Given the description of an element on the screen output the (x, y) to click on. 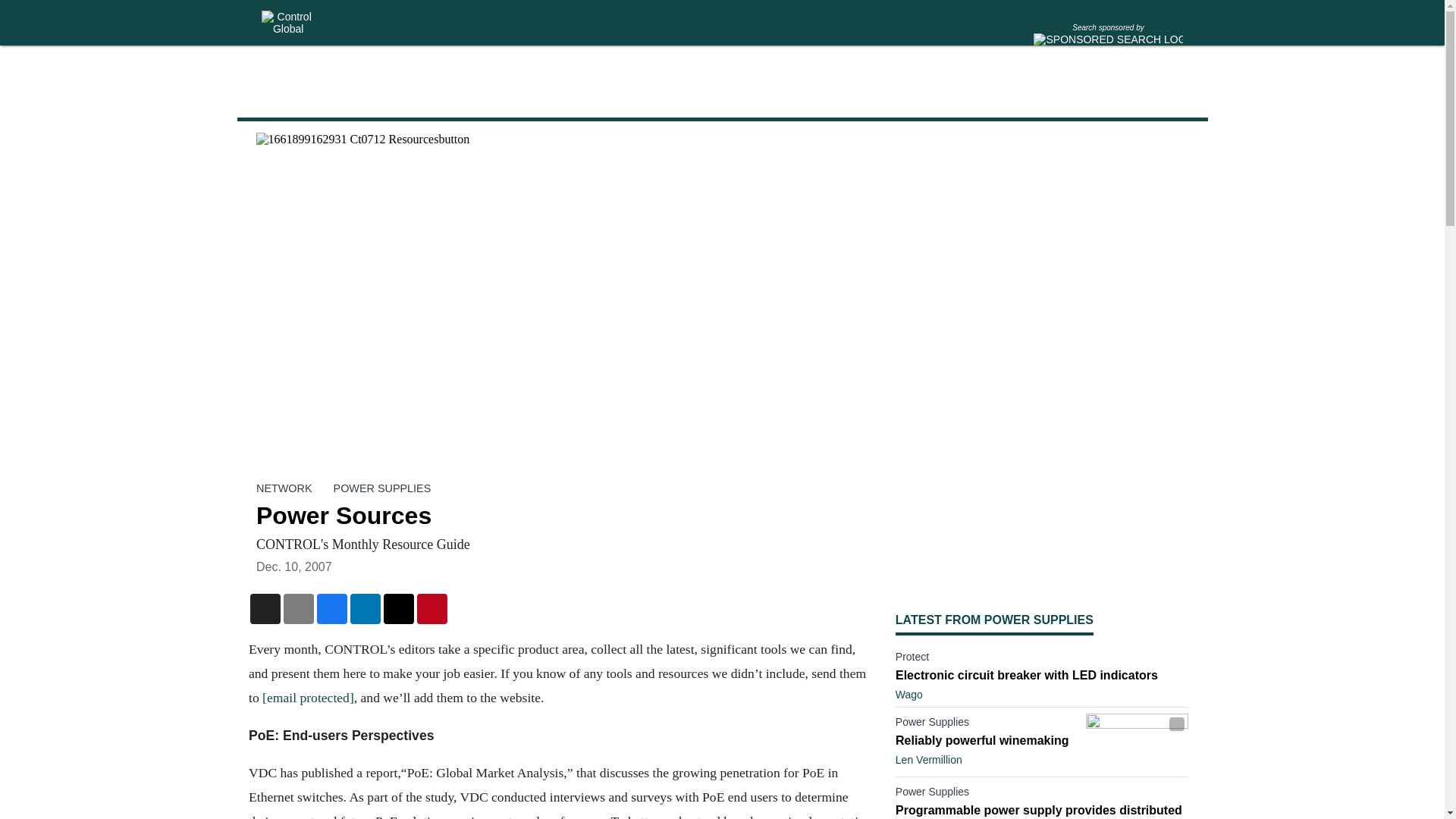
NETWORK (284, 488)
Power Supplies (986, 724)
Len Vermillion (928, 759)
Protect (1042, 659)
Electronic circuit breaker with LED indicators (1042, 675)
Reliably powerful winemaking (986, 740)
Wago (909, 694)
POWER SUPPLIES (381, 488)
